Given the description of an element on the screen output the (x, y) to click on. 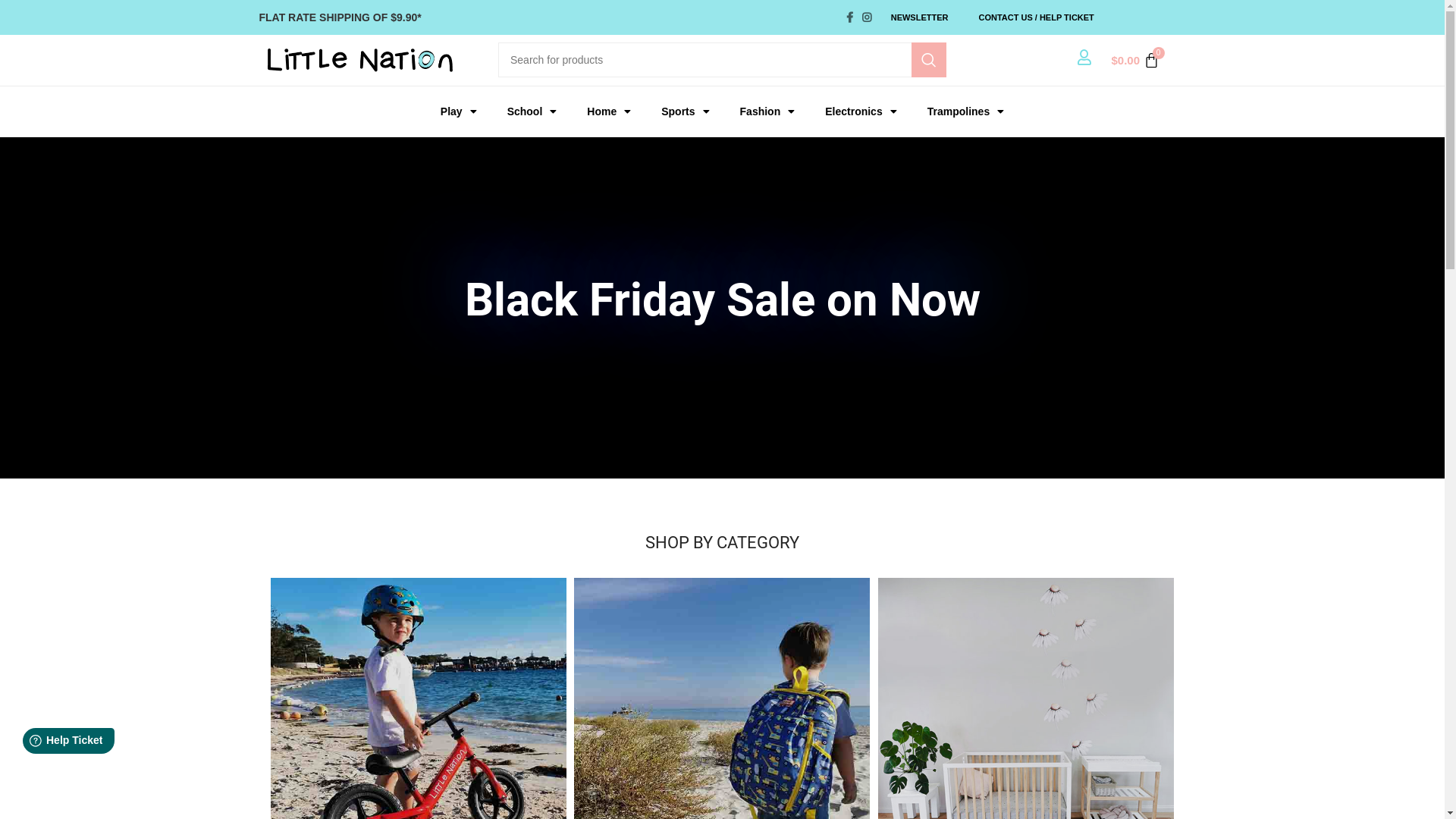
School Element type: text (532, 111)
CONTACT US / HELP TICKET Element type: text (1035, 17)
$0.00
0 Element type: text (1134, 60)
NEWSLETTER Element type: text (919, 17)
Home Element type: text (608, 111)
Trampolines Element type: text (965, 111)
Play Element type: text (458, 111)
SEARCH Element type: text (928, 59)
Electronics Element type: text (860, 111)
Fashion Element type: text (767, 111)
Search for products Element type: hover (722, 59)
Sports Element type: text (685, 111)
